Given the description of an element on the screen output the (x, y) to click on. 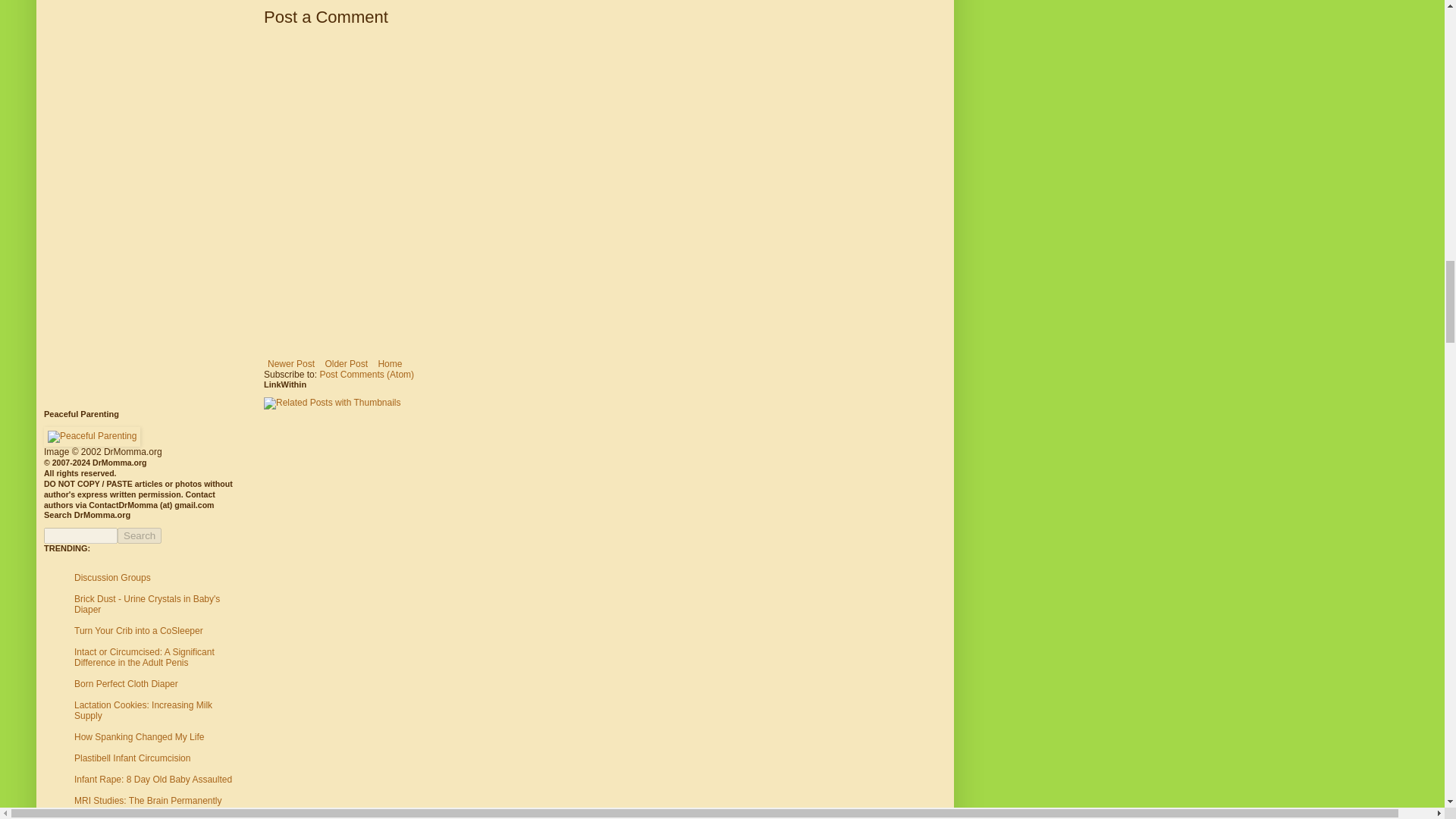
Search (139, 535)
Older Post (345, 363)
Newer Post (290, 363)
Search (139, 535)
search (139, 535)
search (80, 535)
Newer Post (290, 363)
